Given the description of an element on the screen output the (x, y) to click on. 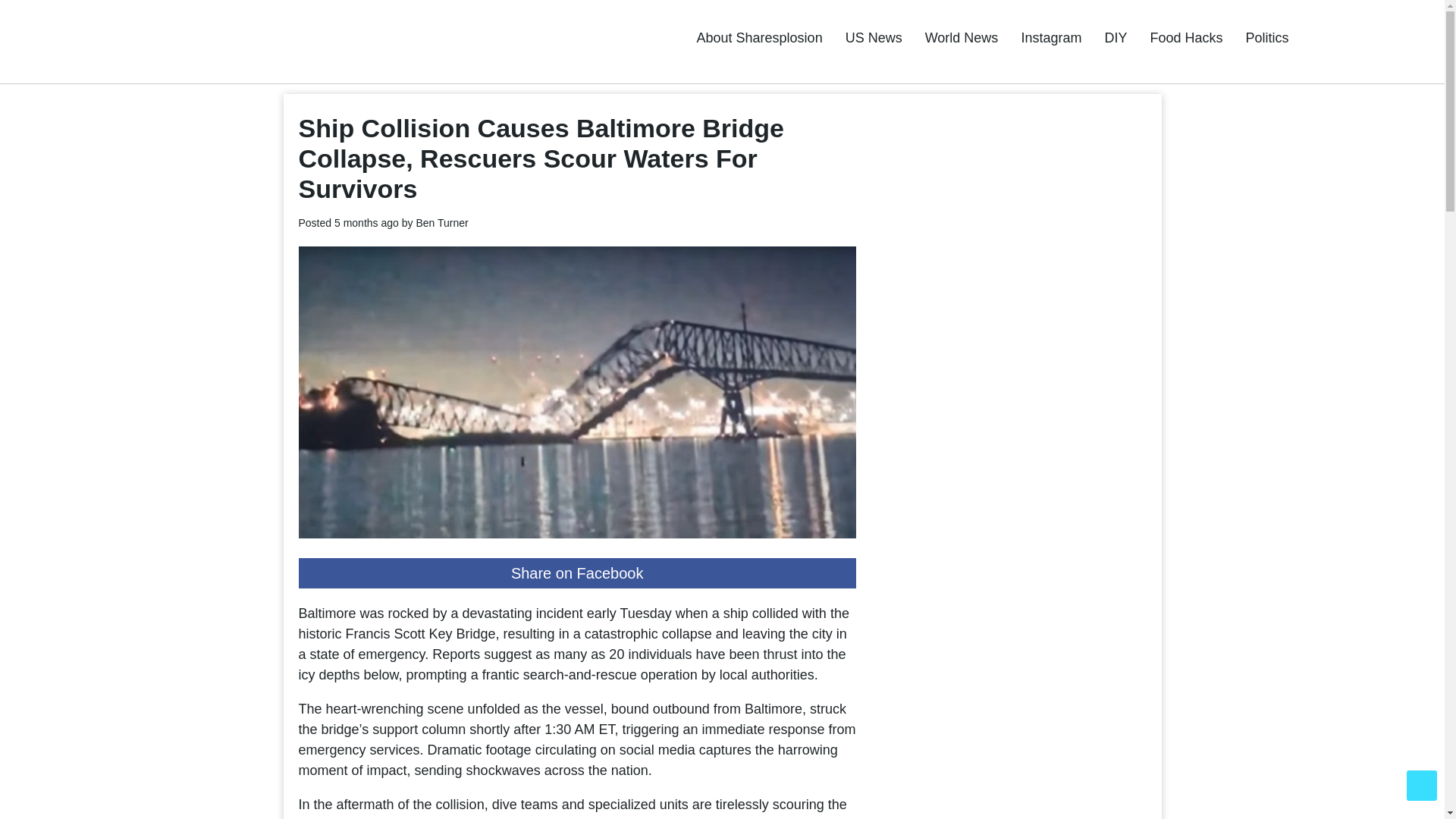
Food Hacks (1186, 37)
Politics (1266, 37)
DIY (1114, 37)
World News (961, 37)
Instagram (1050, 37)
About Sharesplosion (759, 37)
Posts by Ben Turner (440, 223)
Ben Turner (440, 223)
